Given the description of an element on the screen output the (x, y) to click on. 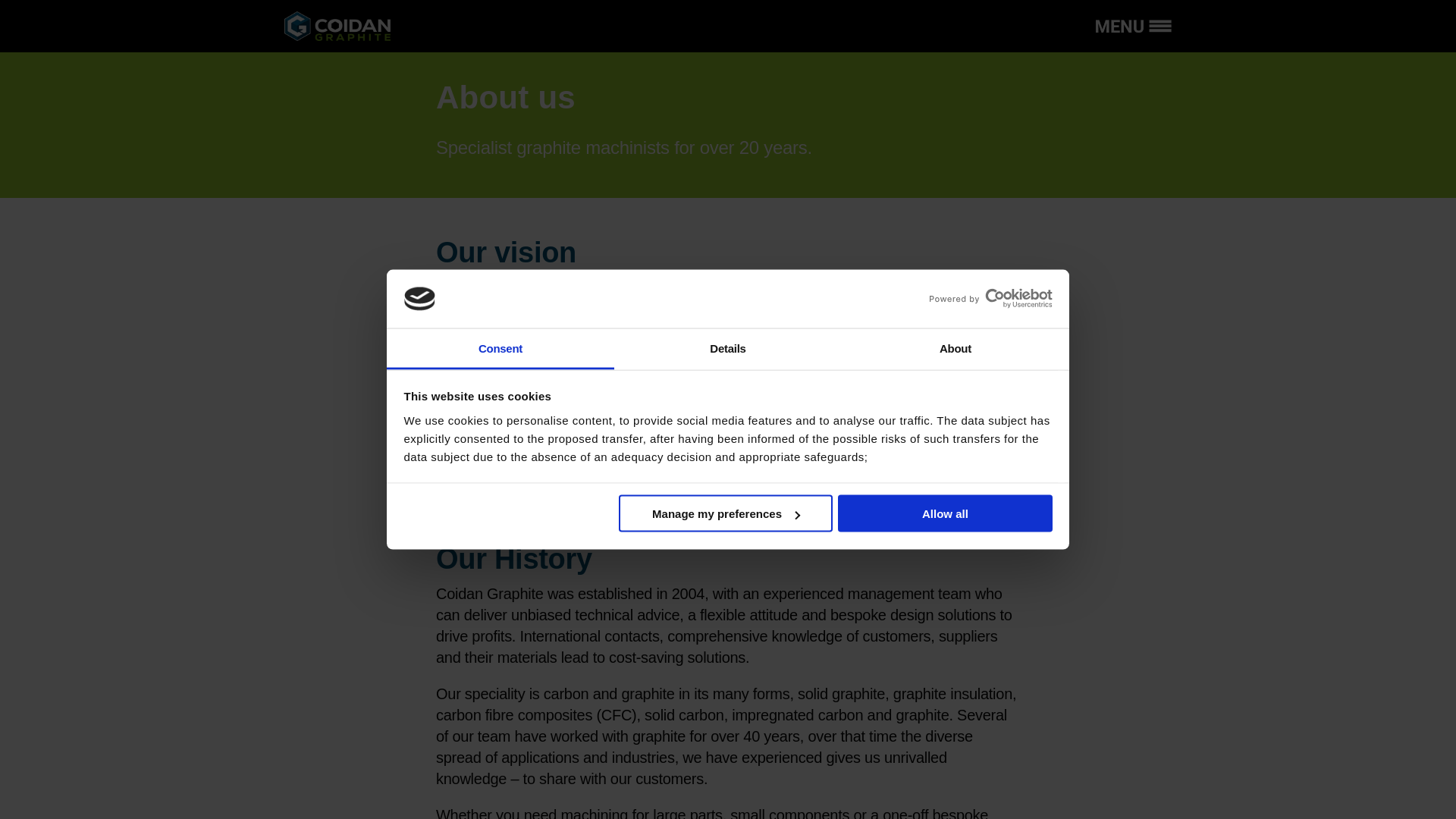
About (954, 348)
Consent (500, 348)
Details (727, 348)
